Given the description of an element on the screen output the (x, y) to click on. 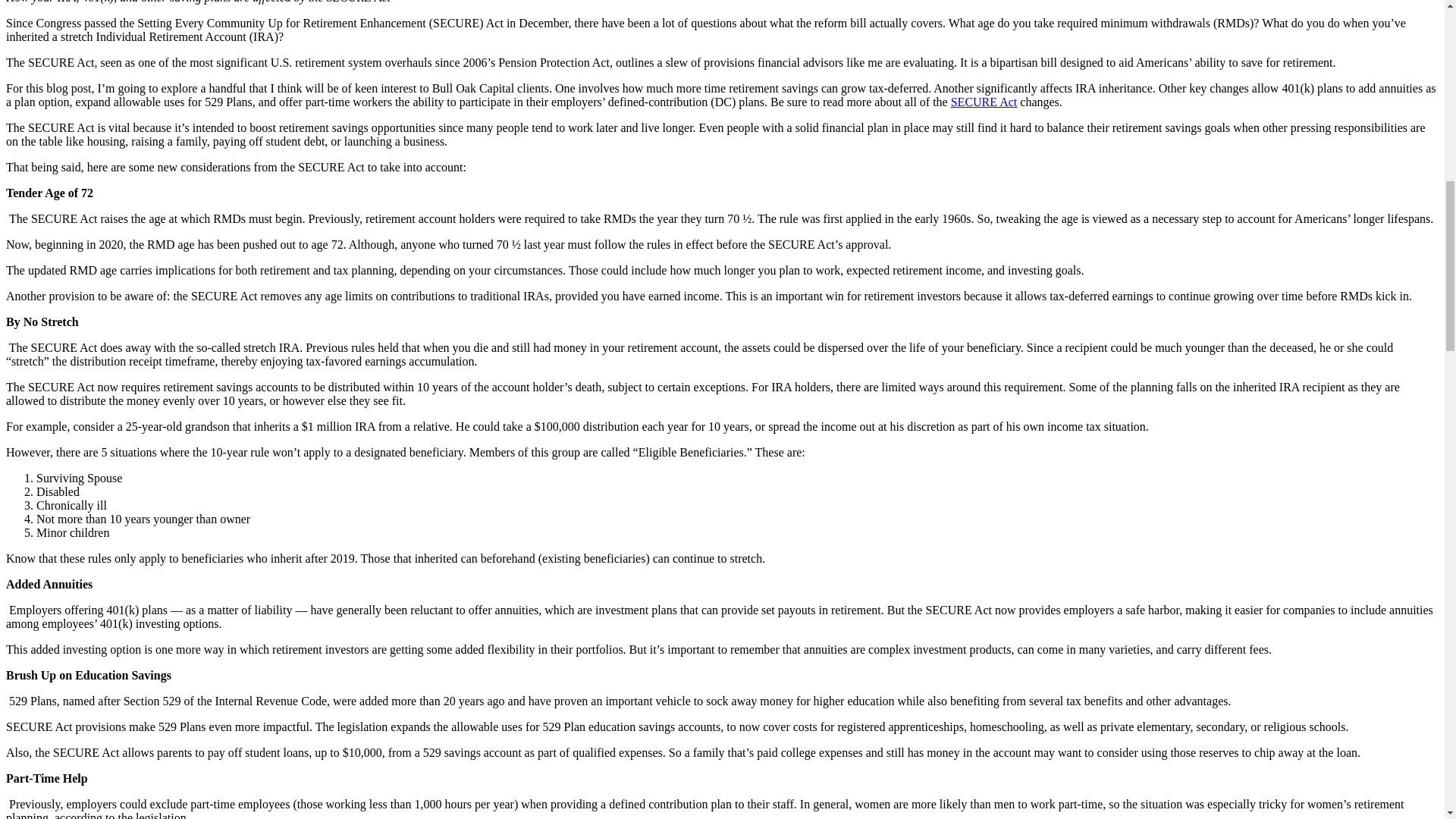
SECURE Act (983, 101)
